Given the description of an element on the screen output the (x, y) to click on. 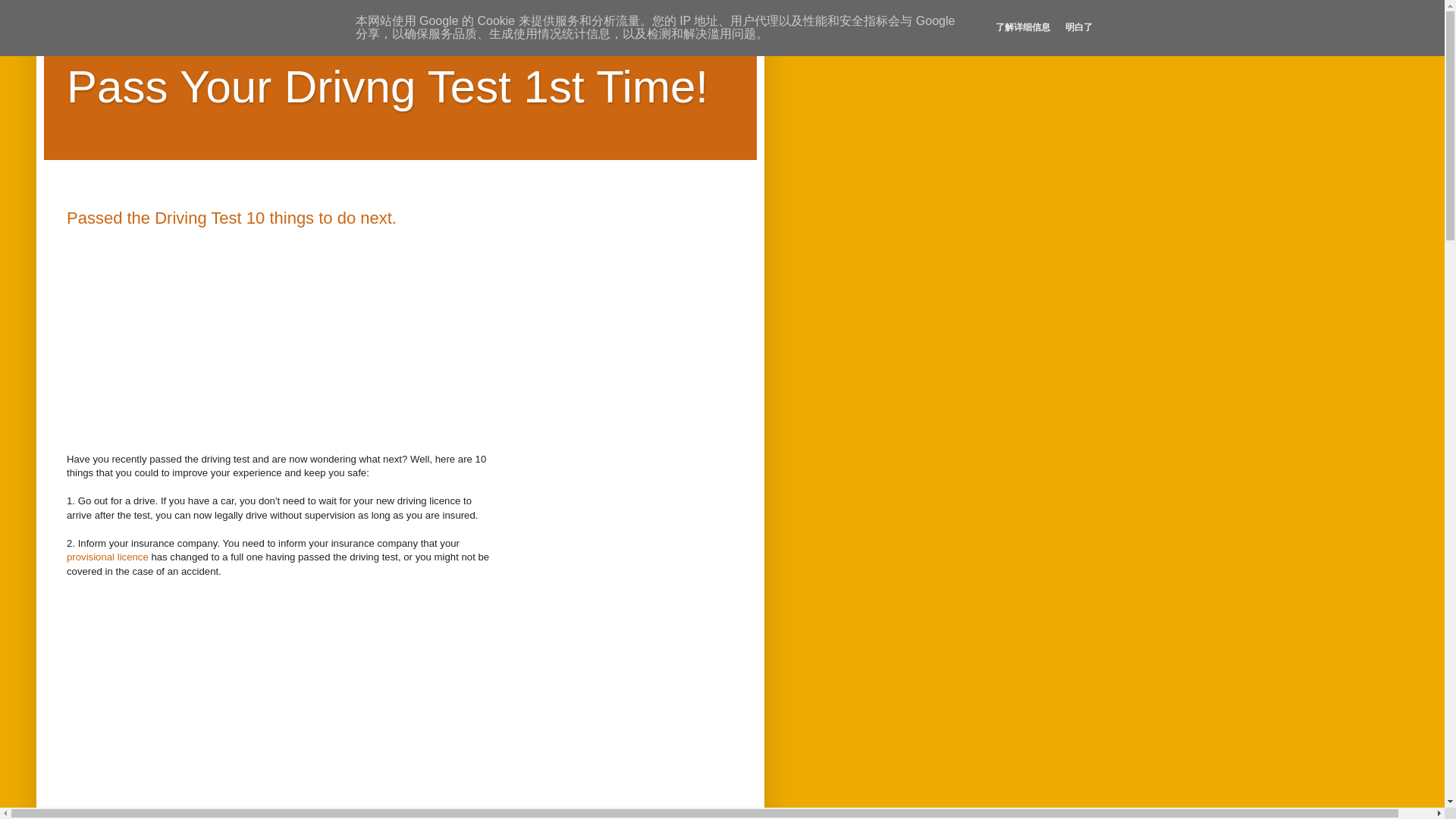
Advertisement (282, 334)
provisional licence (107, 556)
Passed the Driving Test 10 things to do next. (231, 217)
Pass Your Drivng Test 1st Time! (386, 86)
